Given the description of an element on the screen output the (x, y) to click on. 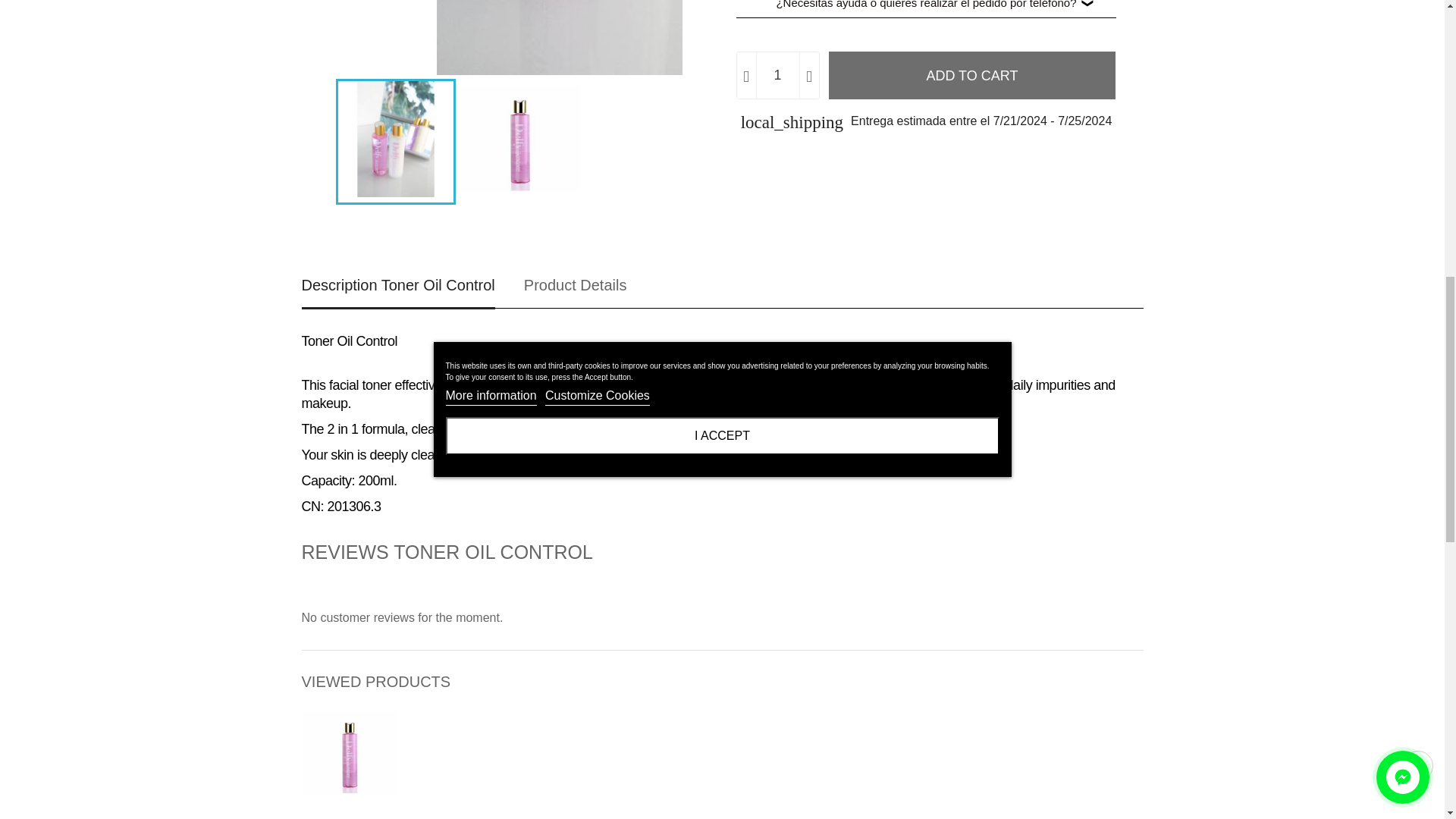
1 (776, 75)
